Given the description of an element on the screen output the (x, y) to click on. 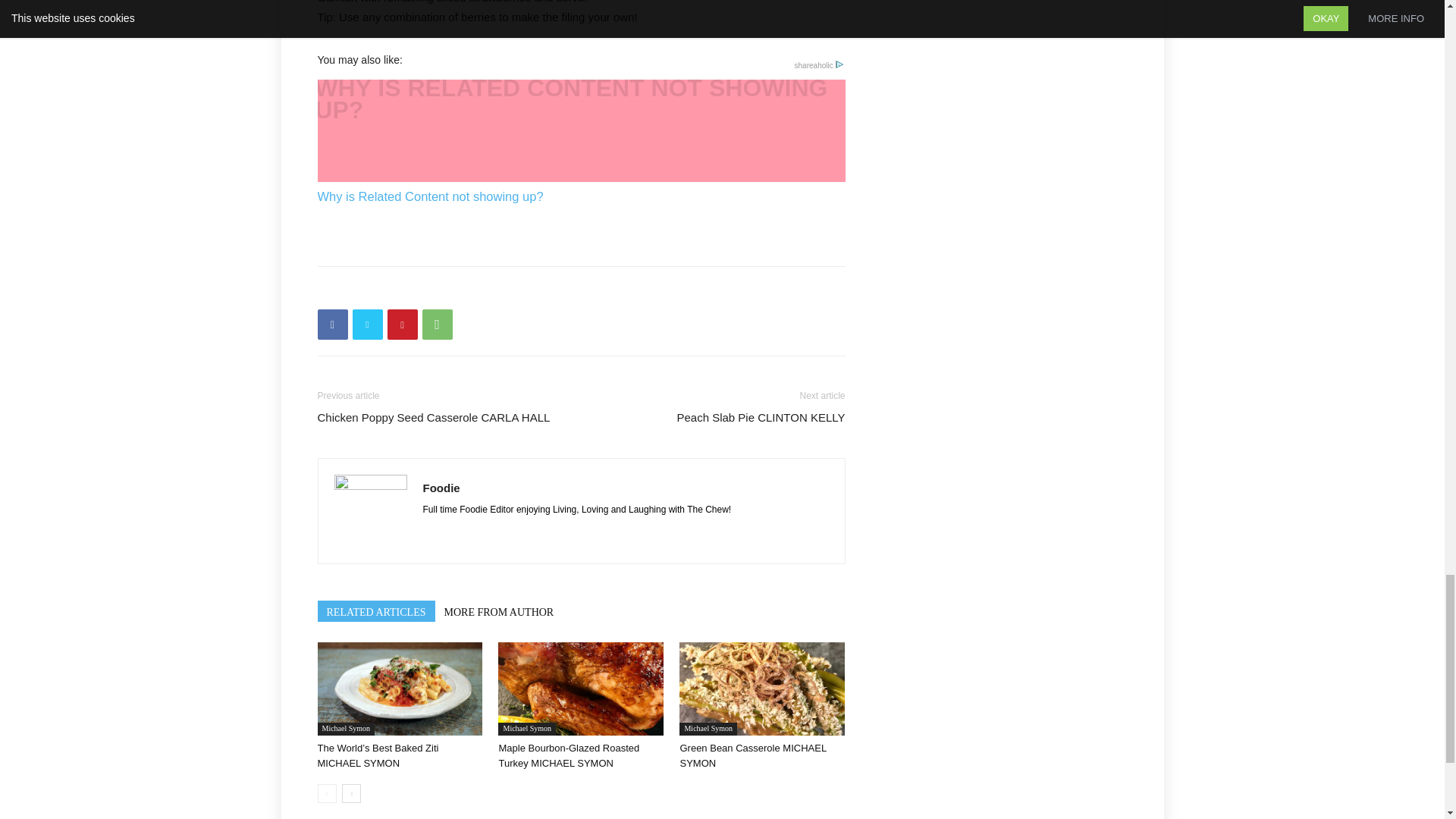
shareaholic (818, 65)
